Given the description of an element on the screen output the (x, y) to click on. 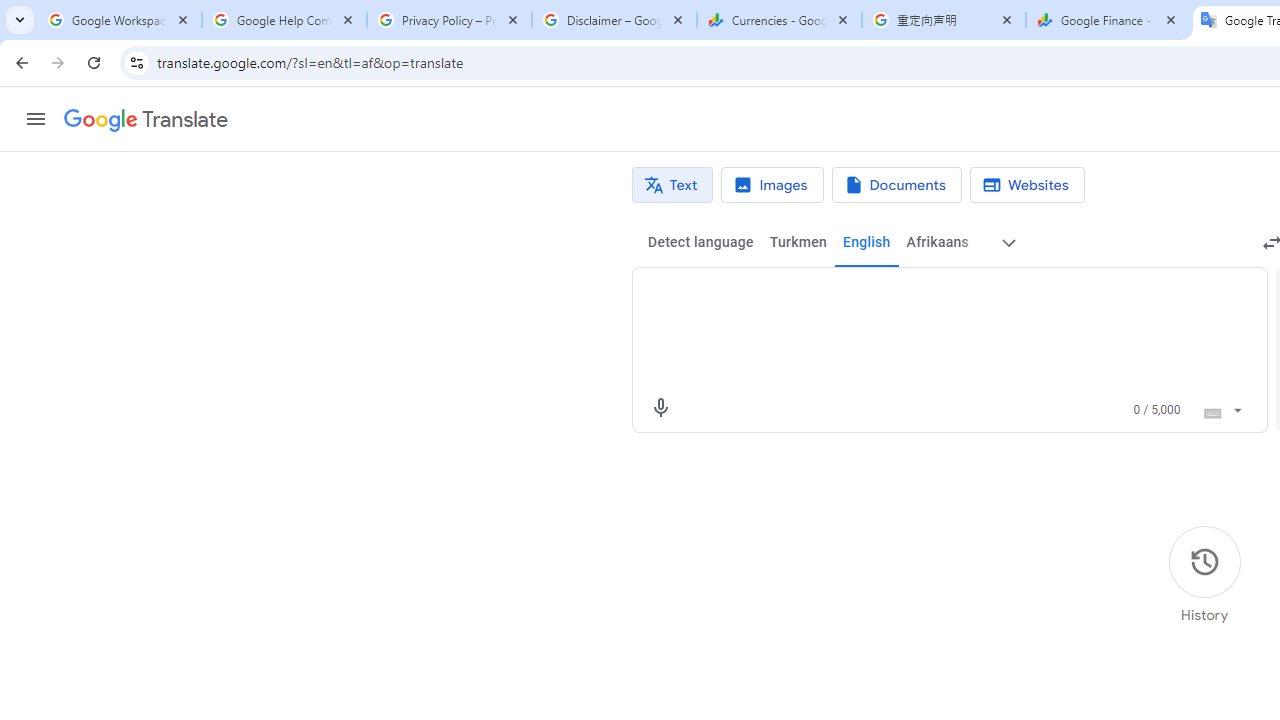
Text translation (672, 185)
Translate by voice (660, 407)
